Given the description of an element on the screen output the (x, y) to click on. 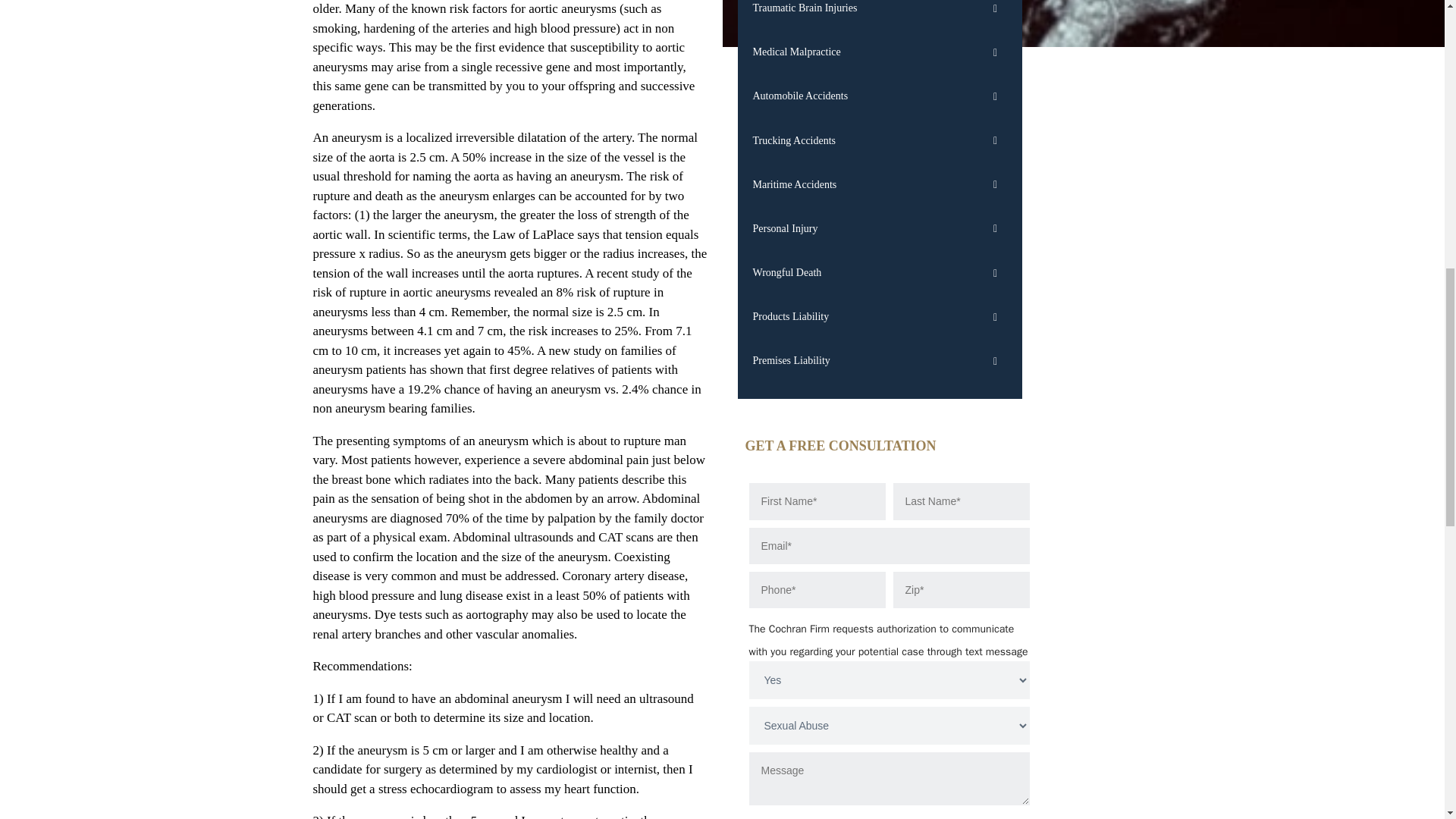
Traumatic Brain Injuries (879, 15)
